Given the description of an element on the screen output the (x, y) to click on. 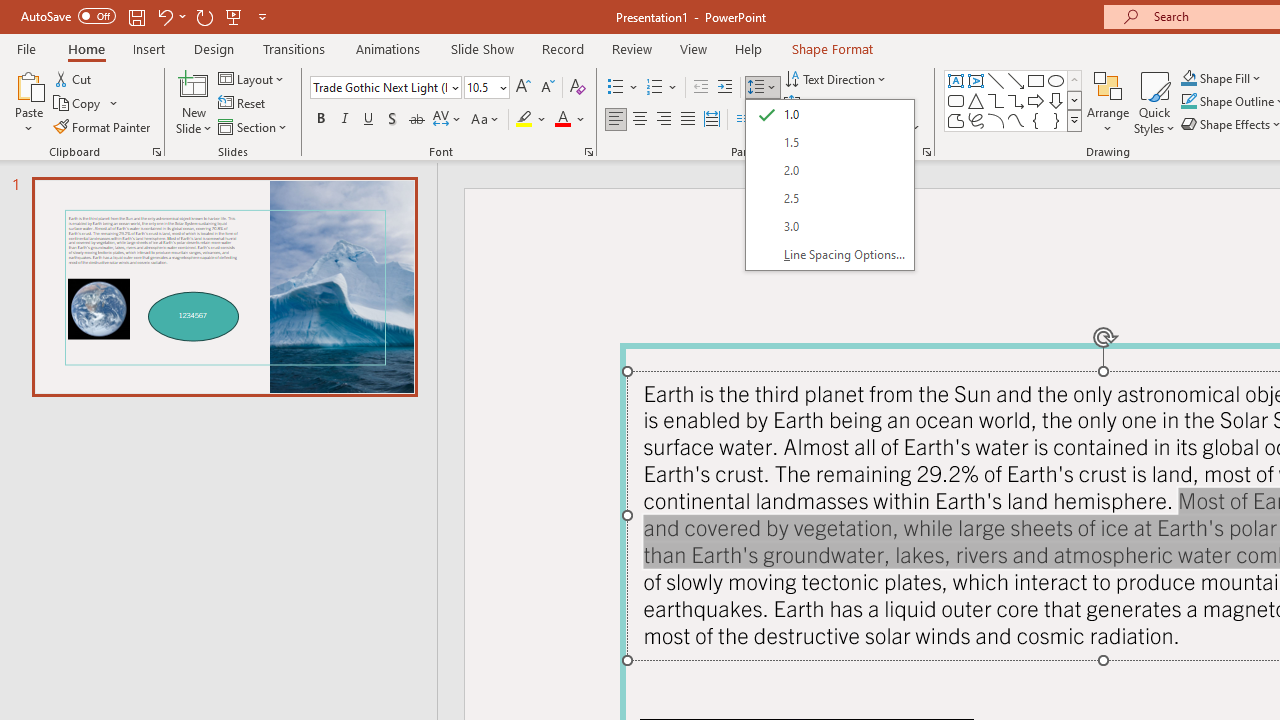
Shape Fill Aqua, Accent 2 (1188, 78)
